Given the description of an element on the screen output the (x, y) to click on. 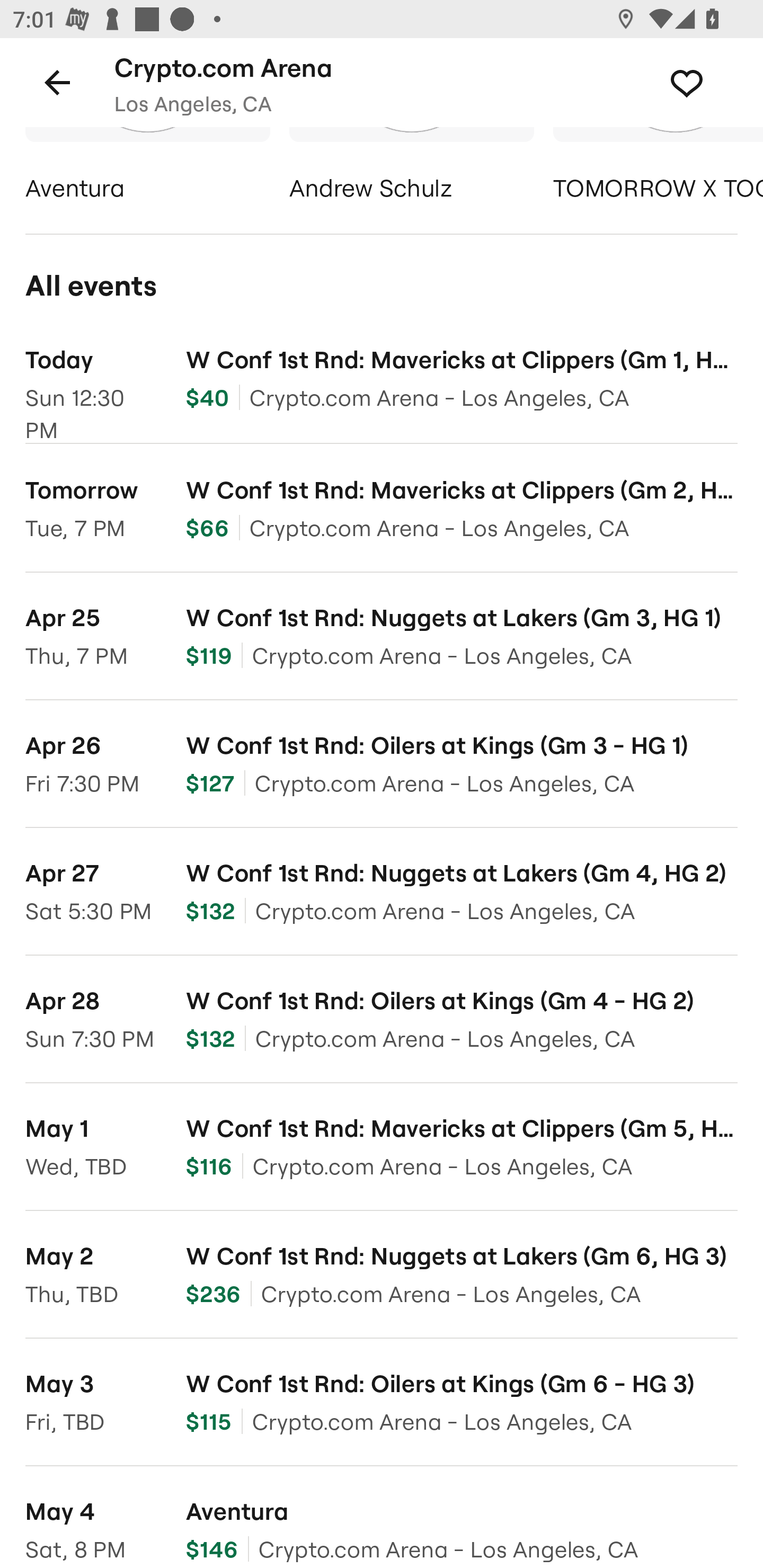
Back (57, 81)
Tracking (705, 81)
Aventura (147, 167)
Andrew Schulz (411, 167)
TOMORROW X TOGETHER (658, 167)
